Given the description of an element on the screen output the (x, y) to click on. 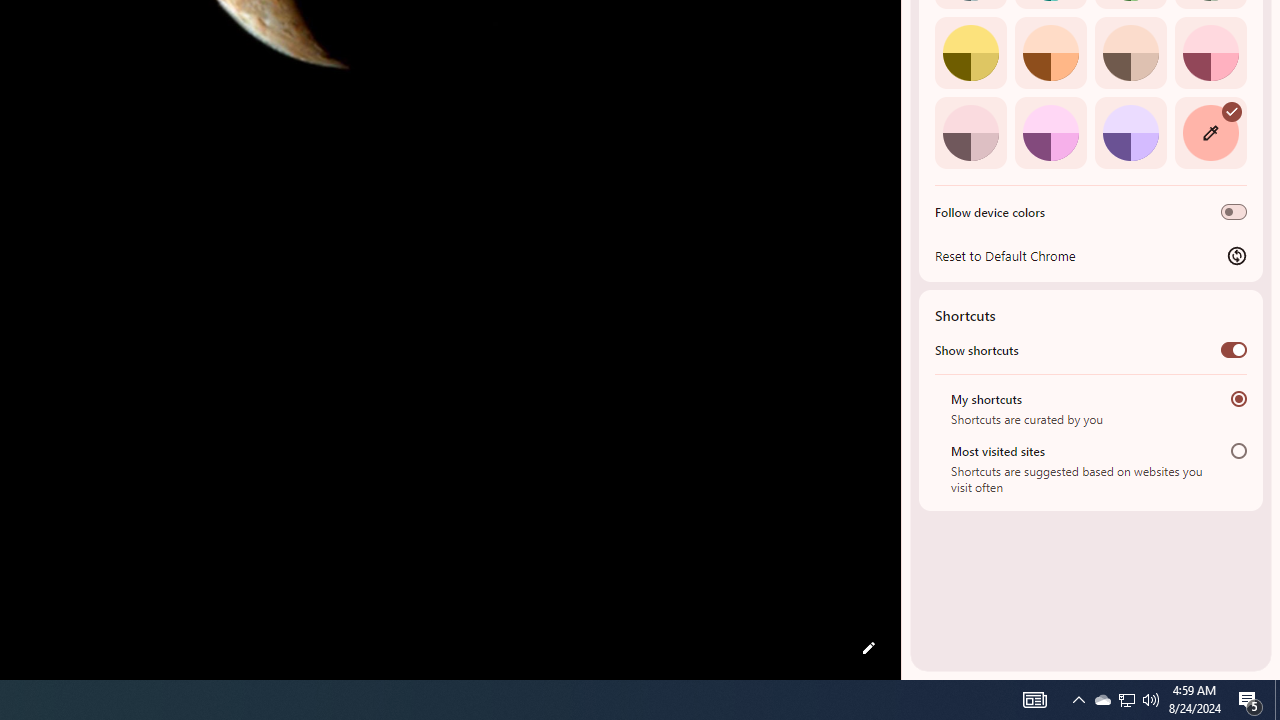
Follow device colors (1233, 211)
Pink (970, 132)
